Given the description of an element on the screen output the (x, y) to click on. 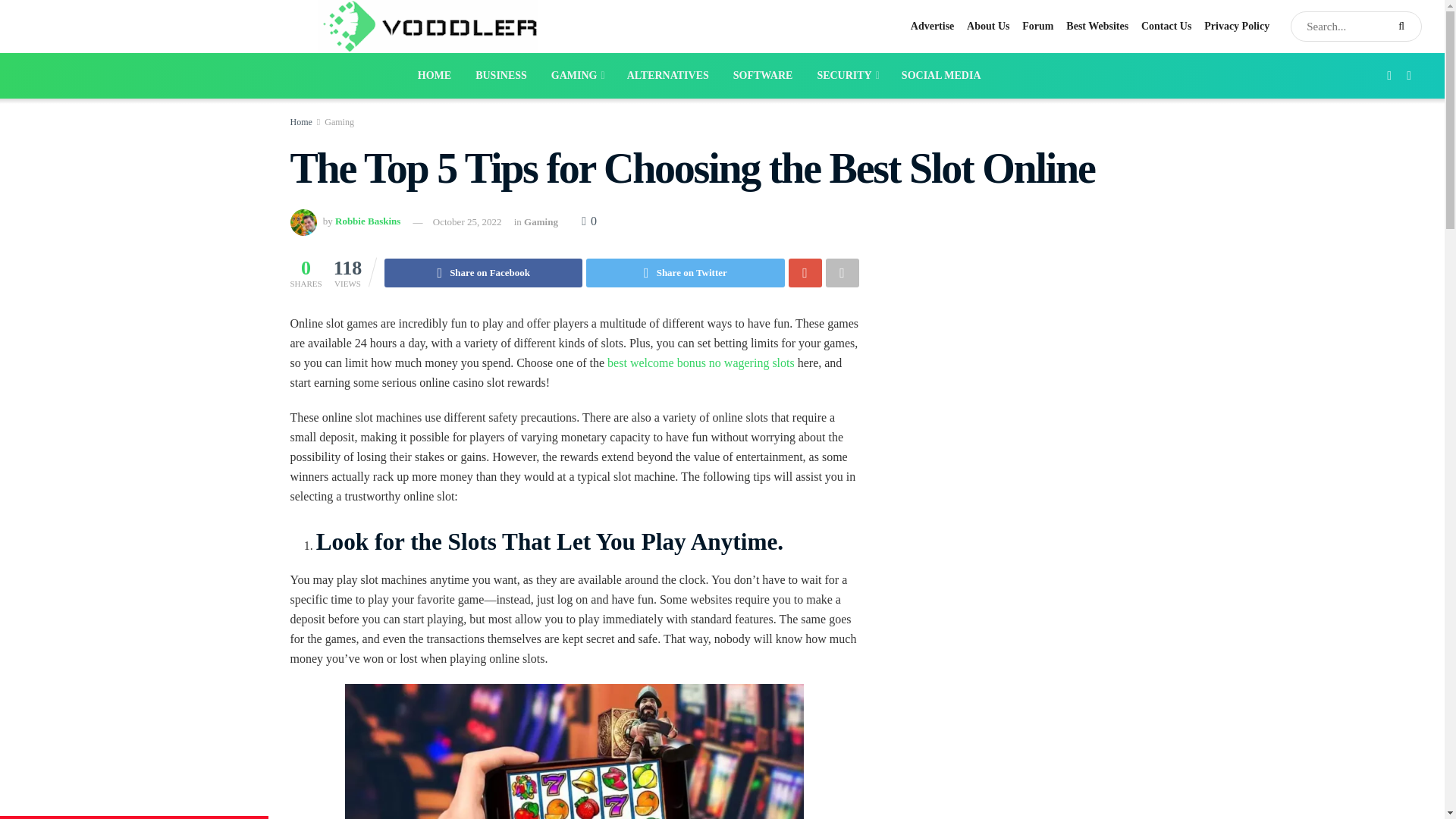
BUSINESS (500, 75)
GAMING (576, 75)
Advertise (933, 26)
SOFTWARE (762, 75)
SOCIAL MEDIA (940, 75)
SECURITY (846, 75)
Best Websites (1096, 26)
ALTERNATIVES (667, 75)
HOME (434, 75)
About Us (987, 26)
